Given the description of an element on the screen output the (x, y) to click on. 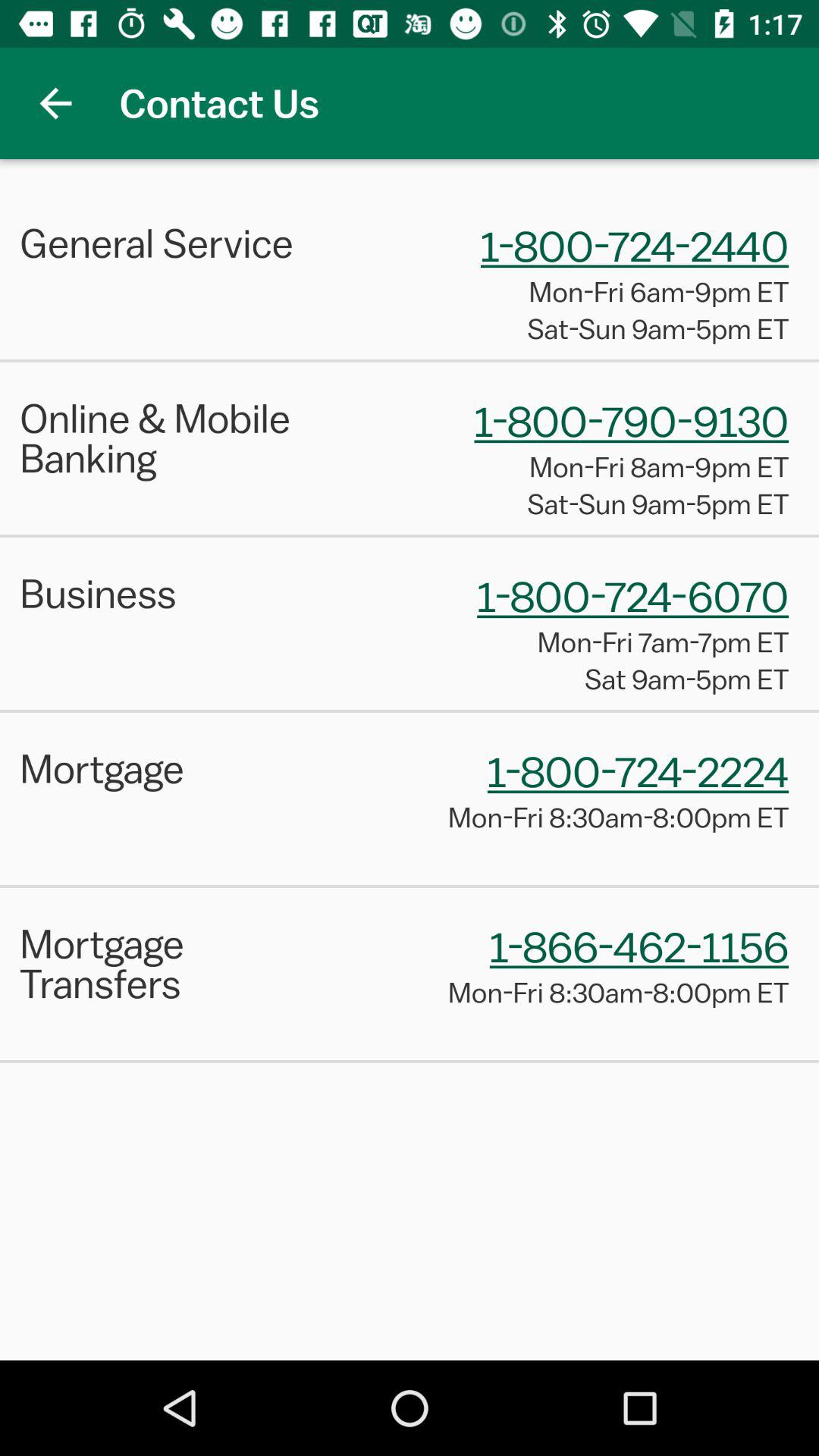
launch the icon next to the mon fri 8 item (179, 963)
